Given the description of an element on the screen output the (x, y) to click on. 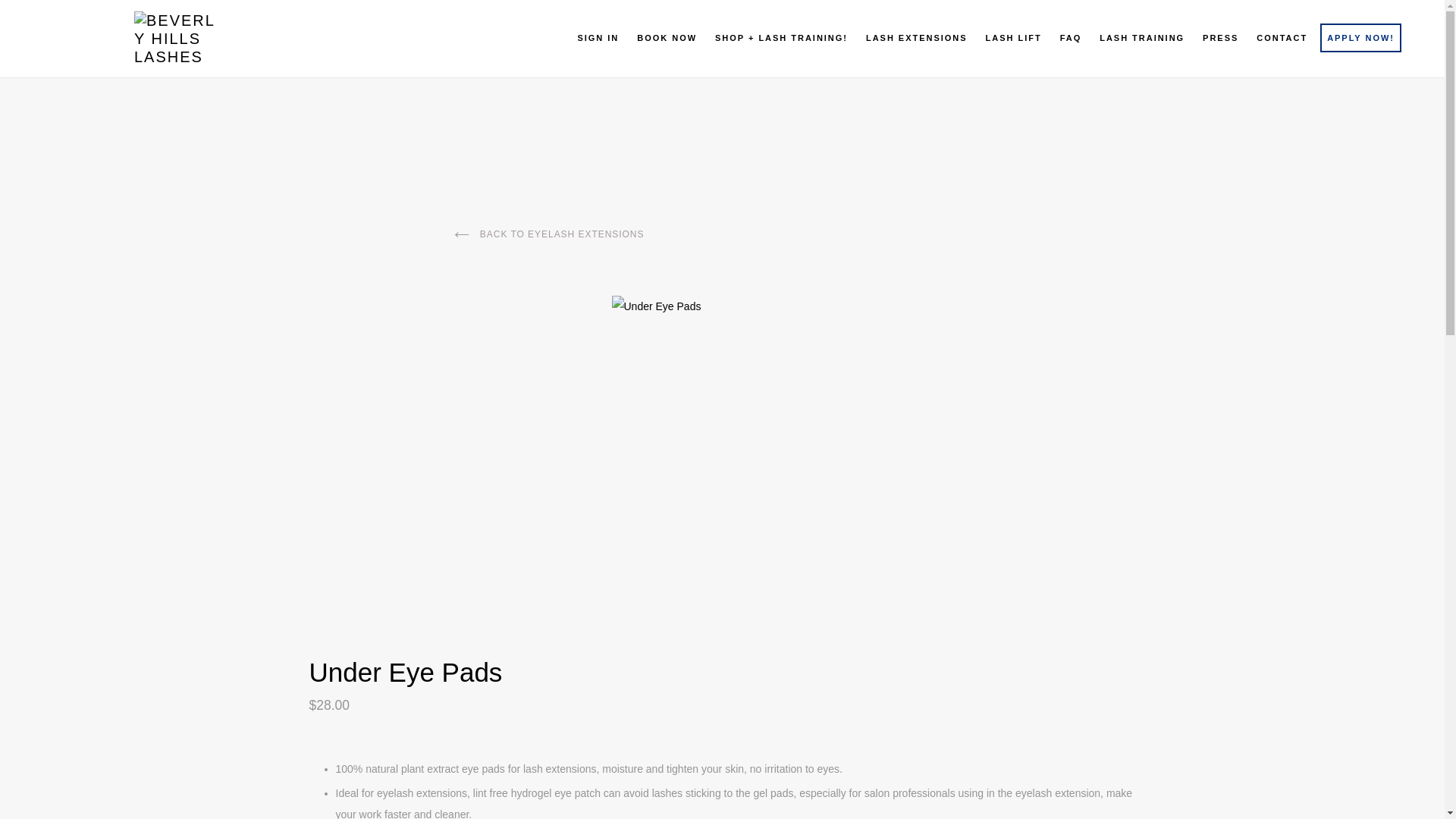
APPLY NOW! (1360, 37)
LASH TRAINING (1141, 37)
FAQ (1070, 37)
SIGN IN (598, 37)
LASH LIFT (1012, 37)
BOOK NOW (666, 37)
LASH EXTENSIONS (916, 37)
CONTACT (1281, 37)
BACK TO EYELASH EXTENSIONS (549, 233)
PRESS (1219, 37)
